Given the description of an element on the screen output the (x, y) to click on. 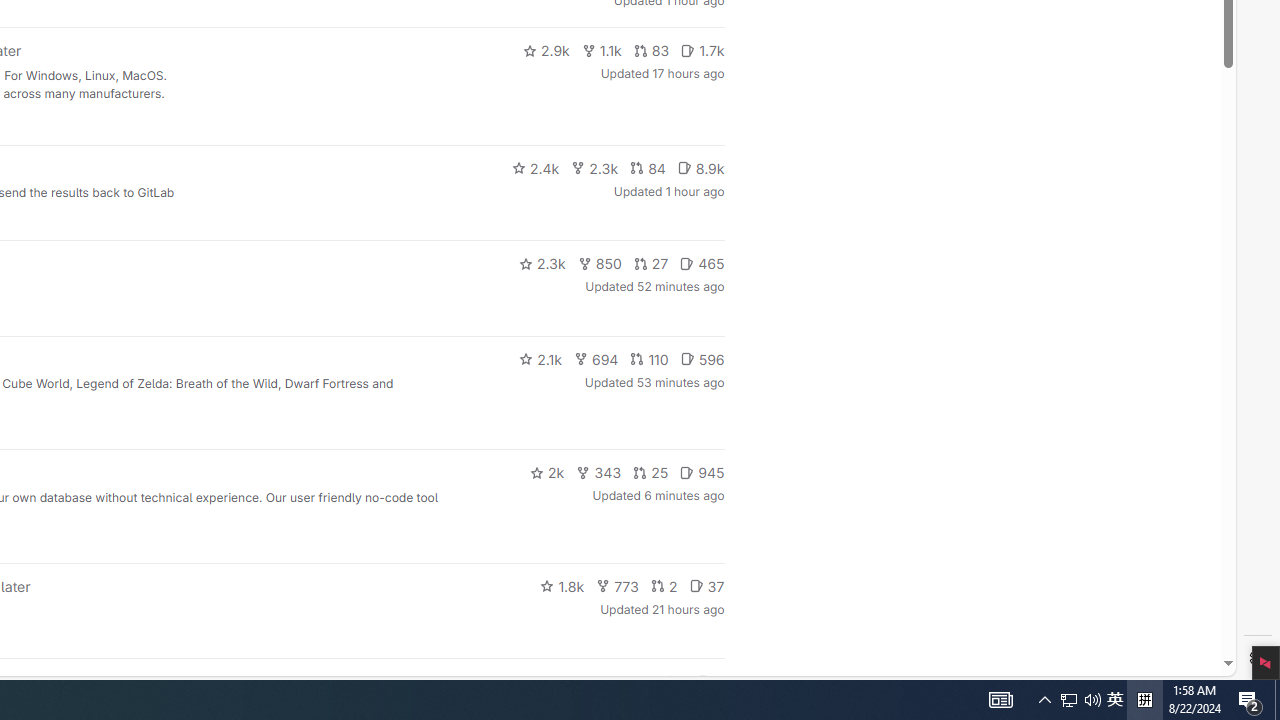
2.4k (535, 167)
850 (599, 263)
83 (651, 50)
84 (647, 167)
2.9k (545, 50)
6 (710, 681)
143 (629, 681)
25 (651, 472)
1.1k (601, 50)
694 (596, 358)
465 (701, 263)
8.9k (700, 167)
Class: s14 gl-mr-2 (704, 681)
110 (649, 358)
